Given the description of an element on the screen output the (x, y) to click on. 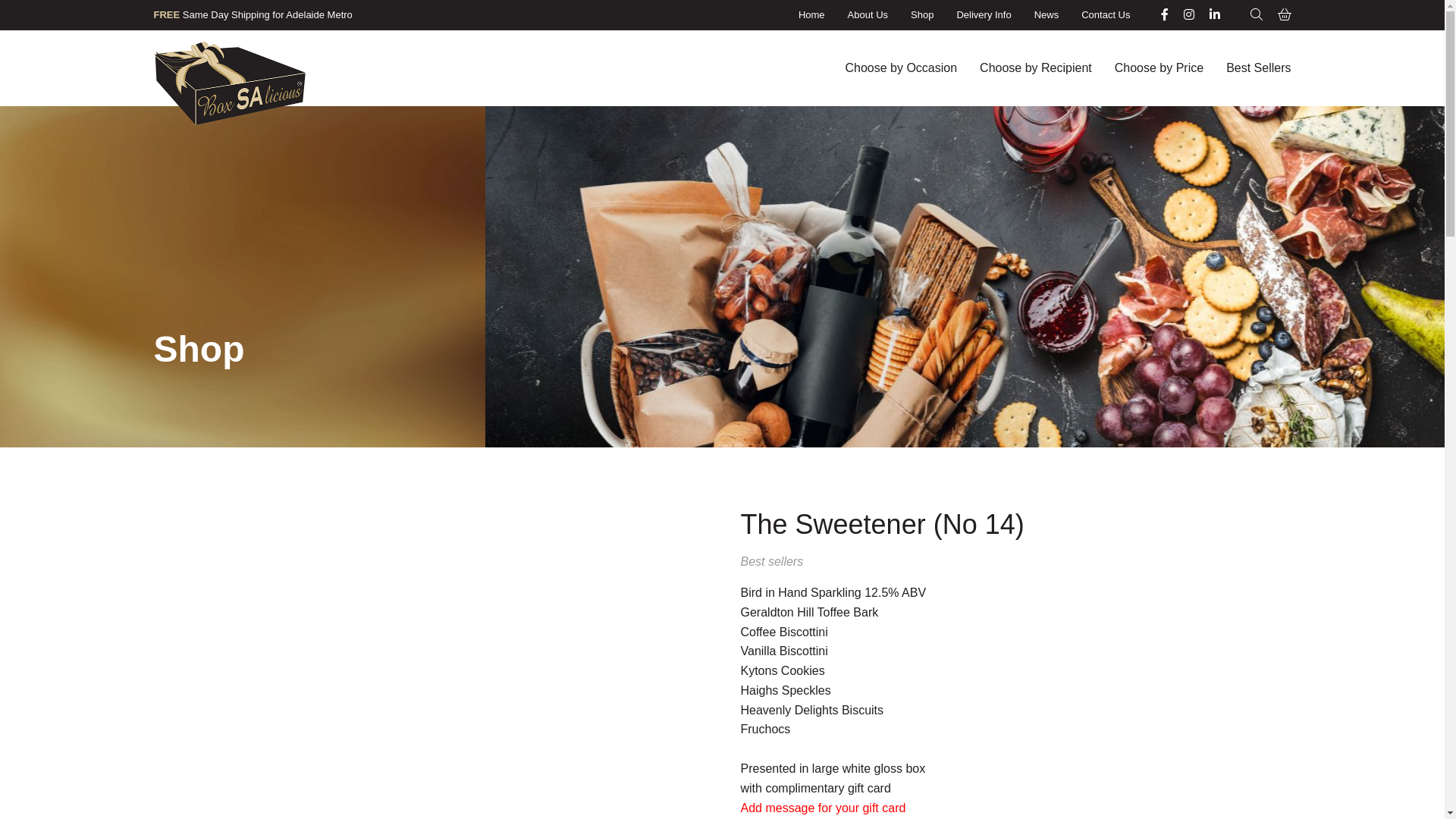
Delivery Info Element type: text (983, 14)
Best Sellers Element type: text (1258, 67)
News Element type: text (1046, 14)
Choose by Recipient Element type: text (1035, 67)
Search Element type: hover (1255, 15)
Shop Element type: text (921, 14)
Contact Us Element type: text (1105, 14)
Choose by Occasion Element type: text (900, 67)
Home Element type: text (811, 14)
Choose by Price Element type: text (1158, 67)
About Us Element type: text (867, 14)
